Given the description of an element on the screen output the (x, y) to click on. 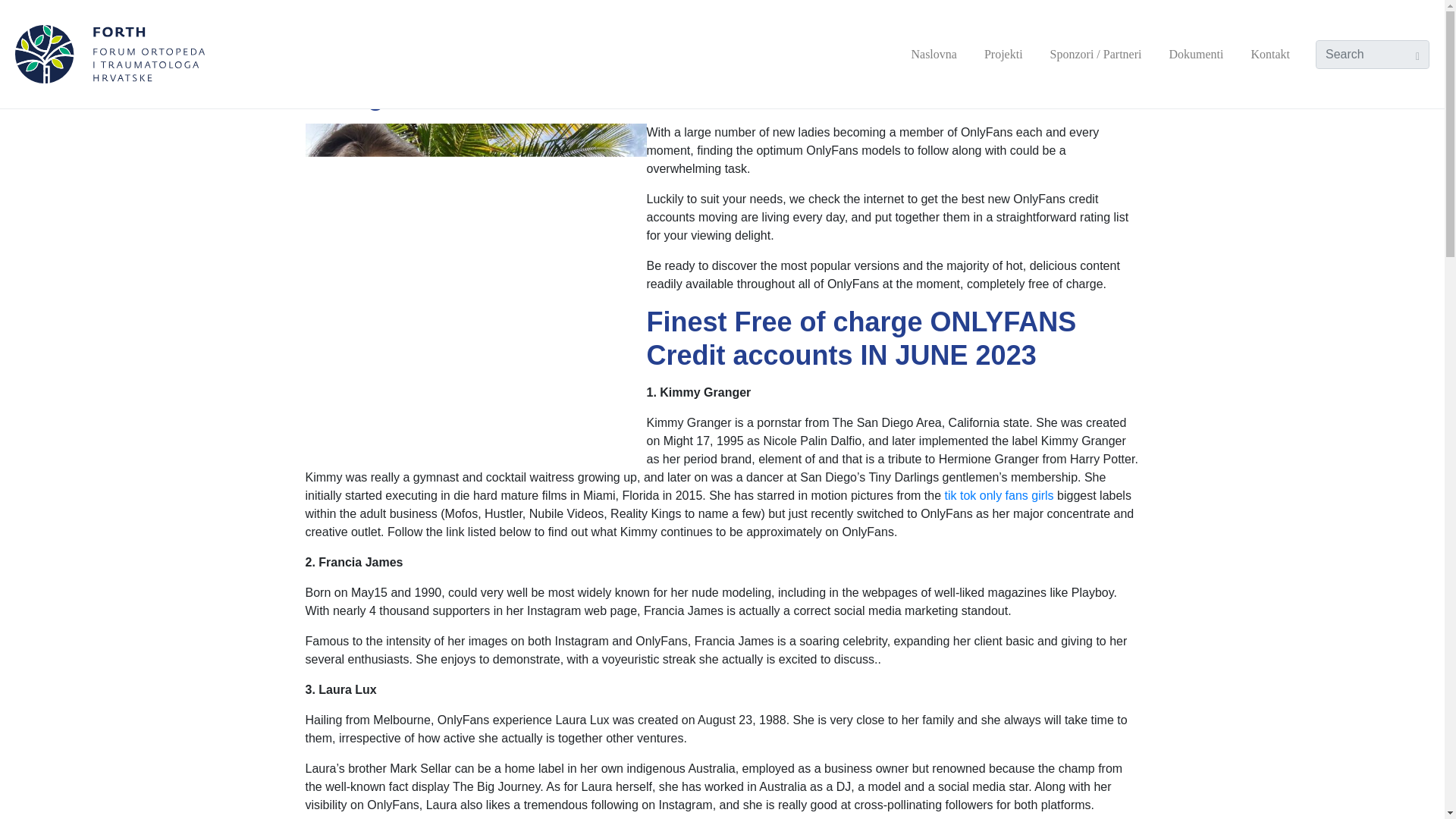
Naslovna (933, 54)
tik tok only fans girls (999, 495)
blog (527, 25)
Projekti (1003, 54)
Dokumenti (1194, 54)
Kontakt (1269, 54)
pele (480, 25)
